Given the description of an element on the screen output the (x, y) to click on. 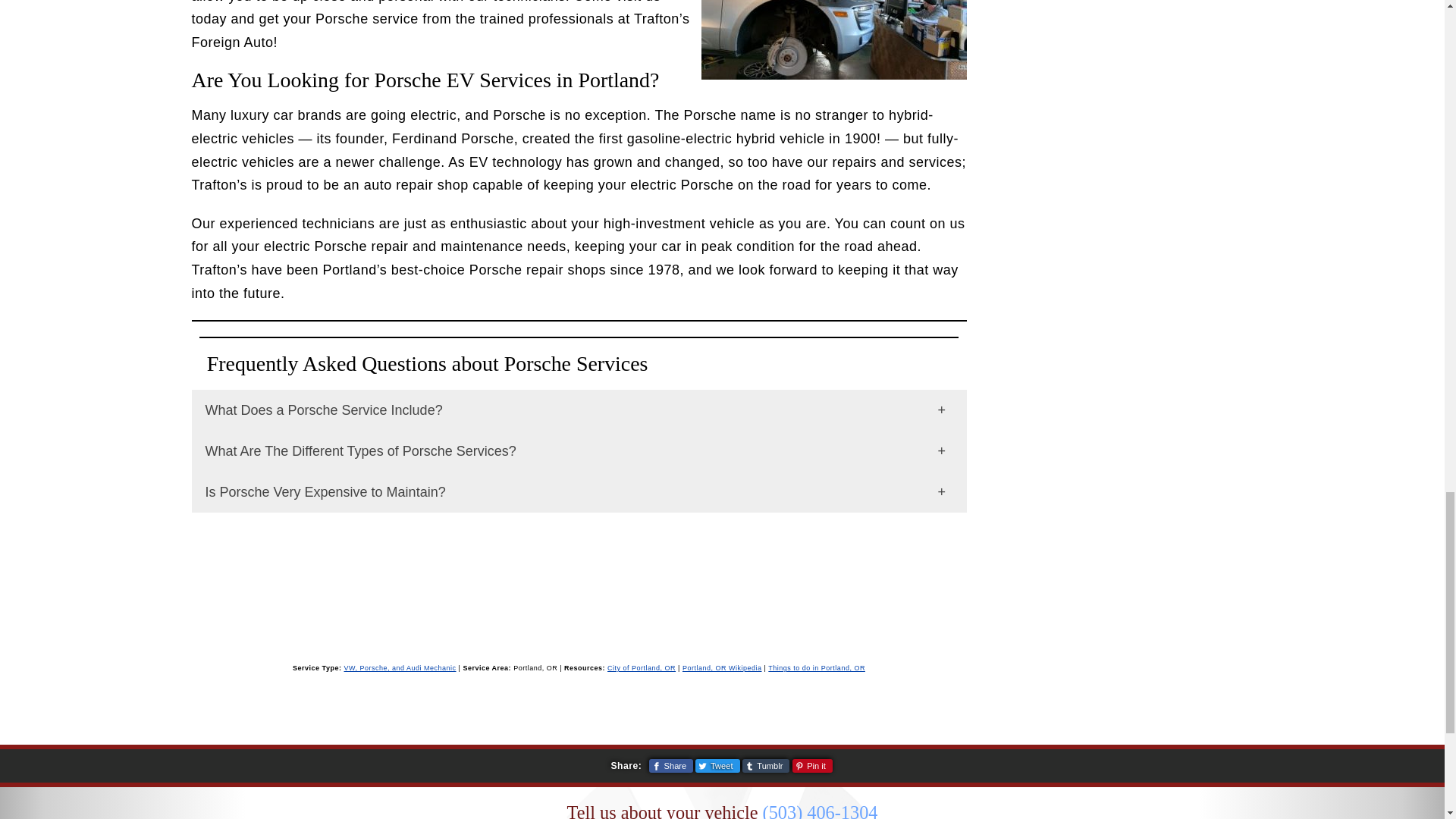
Pin it (812, 766)
Things to do in Portland, OR (816, 667)
Porsche Service Shop Portland (833, 39)
Share (671, 766)
Tweet (717, 766)
Tumblr (766, 766)
Portland, OR Wikipedia (721, 667)
City of Portland, OR (641, 667)
VW, Porsche, and Audi Mechanic (399, 667)
